Given the description of an element on the screen output the (x, y) to click on. 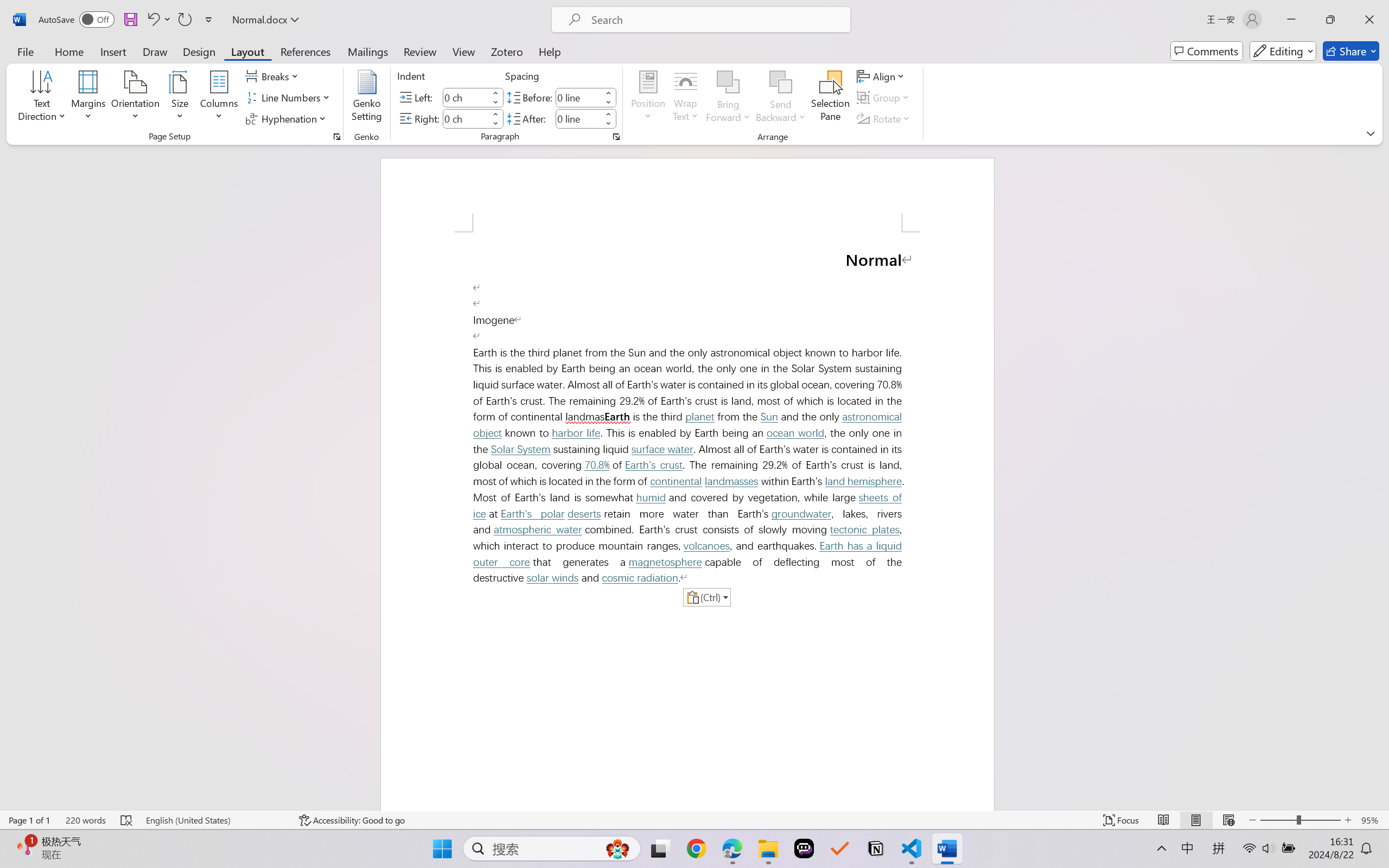
Undo Paste Destination Formatting (152, 19)
Wrap Text (685, 97)
Hyphenation (287, 118)
planet (698, 416)
sheets of ice (690, 505)
Microsoft search (715, 19)
Columns (219, 97)
Spacing Before (578, 96)
Send Backward (781, 81)
More (608, 113)
Sun (769, 416)
